Given the description of an element on the screen output the (x, y) to click on. 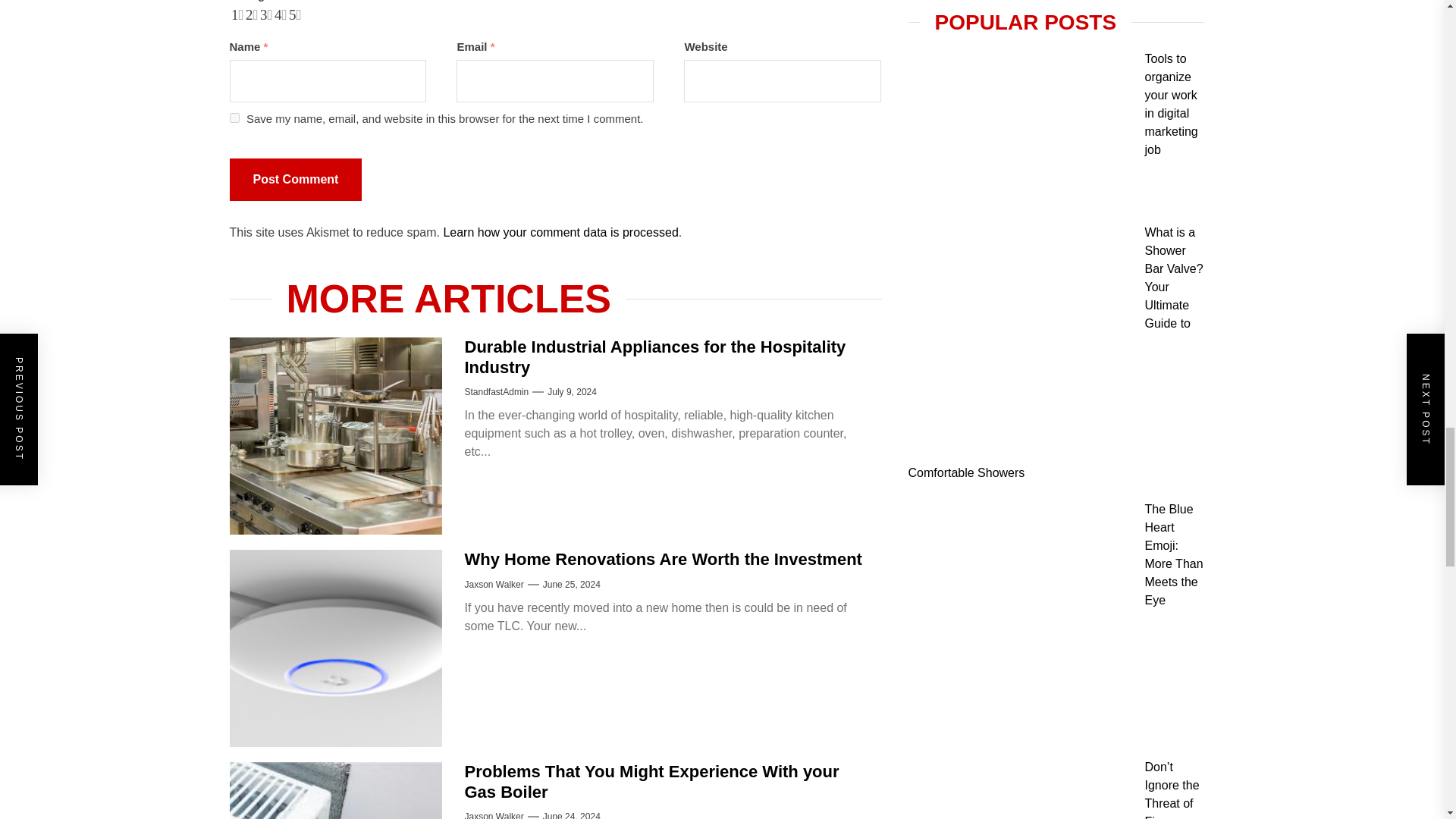
Post Comment (294, 179)
yes (233, 117)
